Given the description of an element on the screen output the (x, y) to click on. 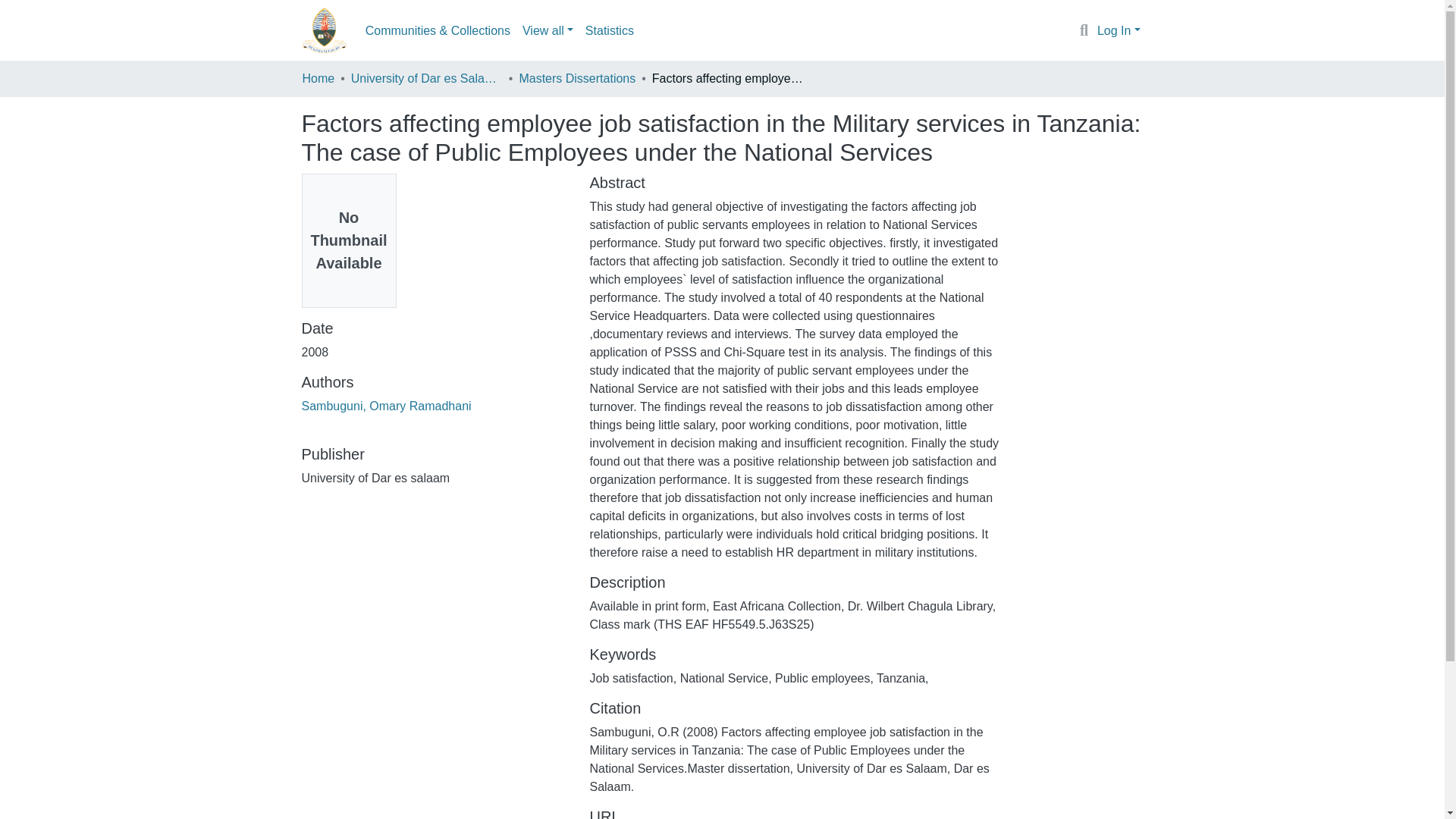
Statistics (609, 30)
University of Dar es Salaam Business School (426, 78)
Sambuguni, Omary Ramadhani (386, 405)
View all (547, 30)
Masters Dissertations (576, 78)
Statistics (609, 30)
Log In (1118, 30)
Home (317, 78)
Search (1084, 30)
